Given the description of an element on the screen output the (x, y) to click on. 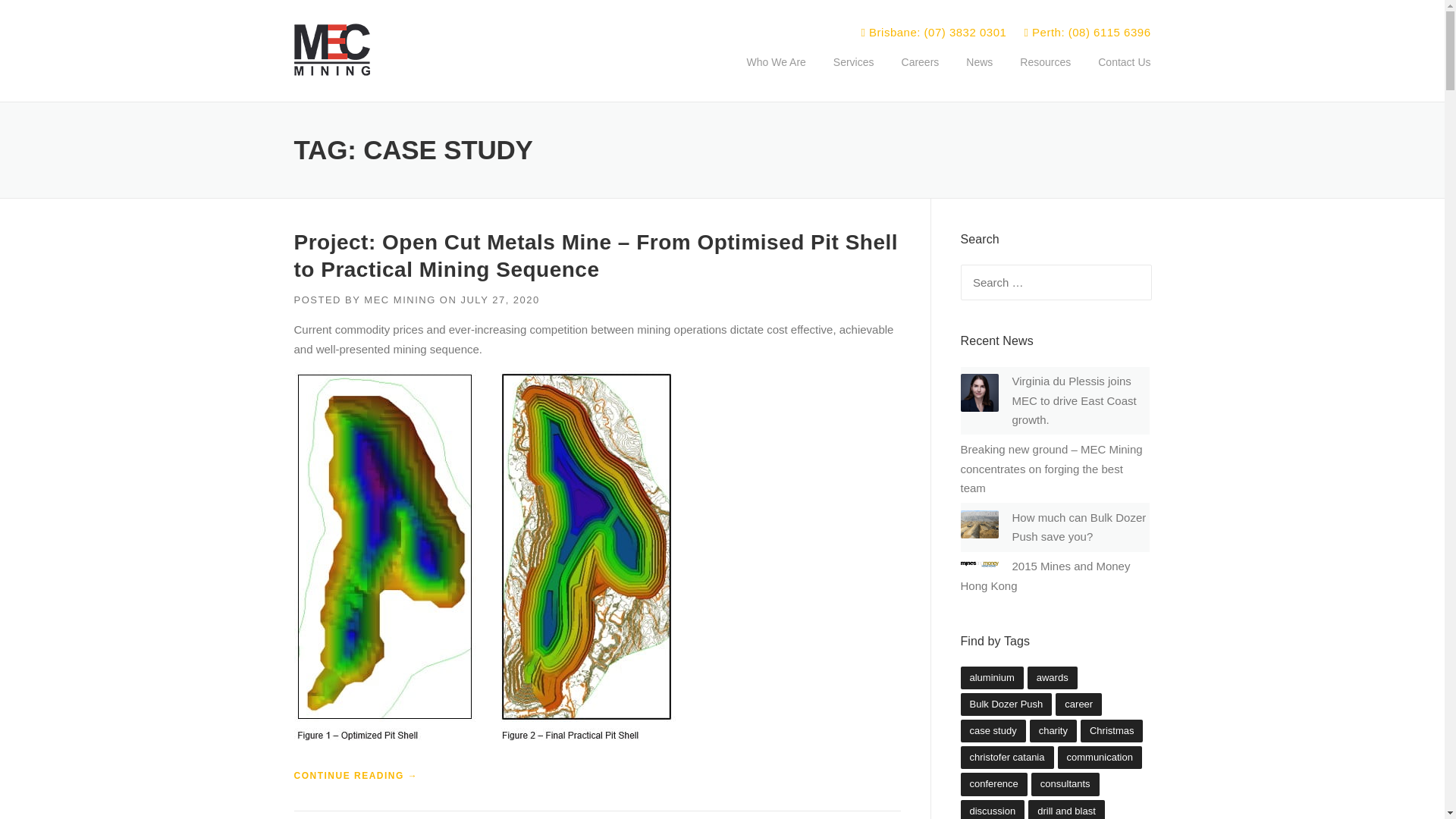
2015 Mines and Money Hong Kong (1044, 575)
Contact Us (1117, 73)
News (979, 73)
Skip to content (37, 9)
JULY 27, 2020 (499, 299)
MEC Mining (331, 47)
Virginia du Plessis joins MEC to drive East Coast growth. (1073, 399)
Who We Are (775, 73)
Services (853, 73)
MEC MINING (399, 299)
Careers (920, 73)
Resources (1045, 73)
How much can Bulk Dozer Push save you? (1078, 527)
